Given the description of an element on the screen output the (x, y) to click on. 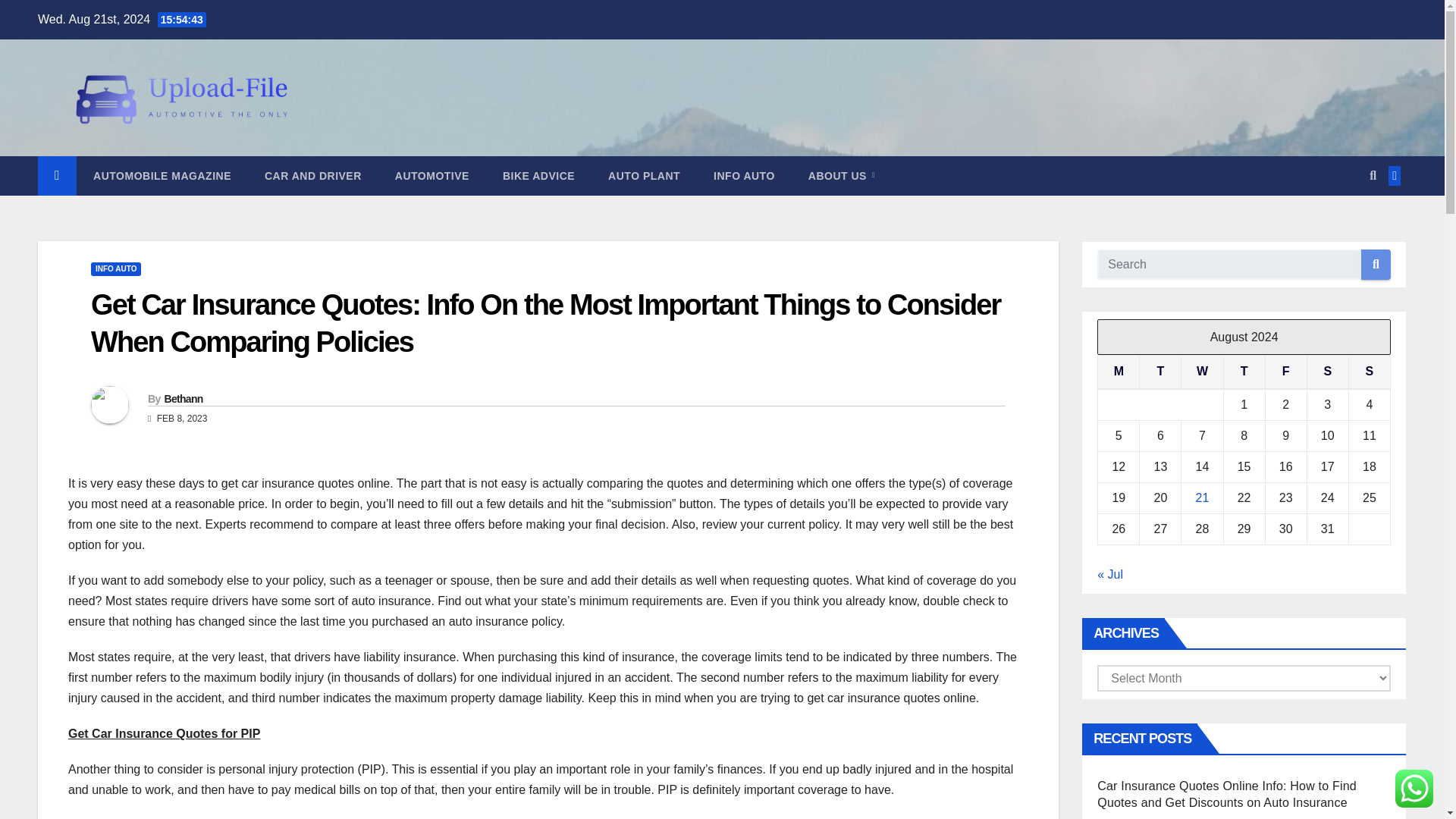
AUTOMOTIVE (432, 175)
BIKE ADVICE (538, 175)
AUTO PLANT (644, 175)
Bike Advice (538, 175)
Car and Driver (312, 175)
INFO AUTO (115, 269)
AUTOMOBILE MAGAZINE (162, 175)
CAR AND DRIVER (312, 175)
About Us (841, 175)
